Given the description of an element on the screen output the (x, y) to click on. 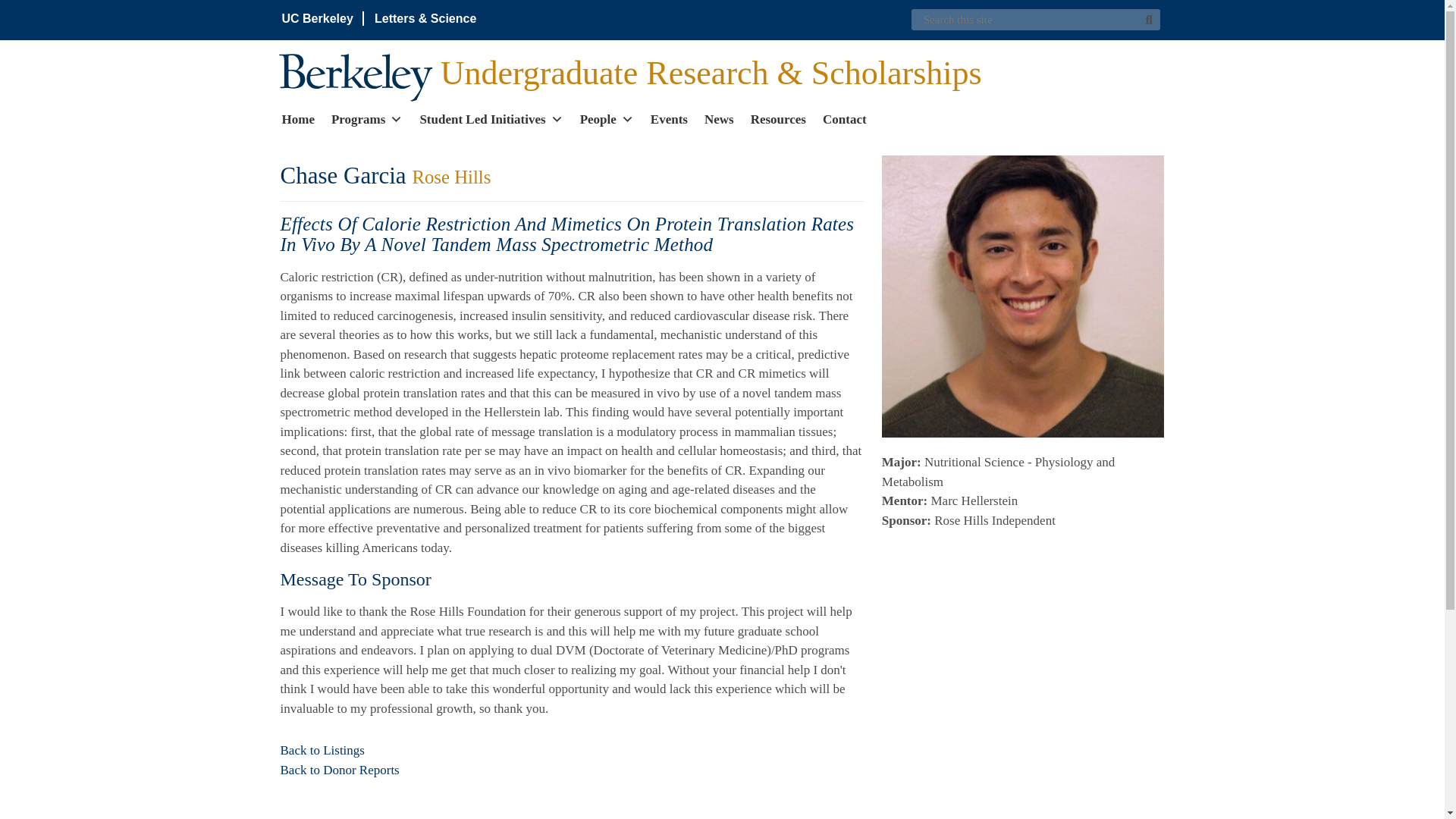
Programs (367, 118)
Back to Donor Reports (339, 769)
People (606, 118)
Back to Listings (323, 749)
UC Berkeley (317, 18)
Search (1149, 20)
Events (668, 118)
News (718, 118)
Student Led Initiatives (490, 118)
Contact (844, 118)
Resources (778, 118)
Home (298, 118)
